Given the description of an element on the screen output the (x, y) to click on. 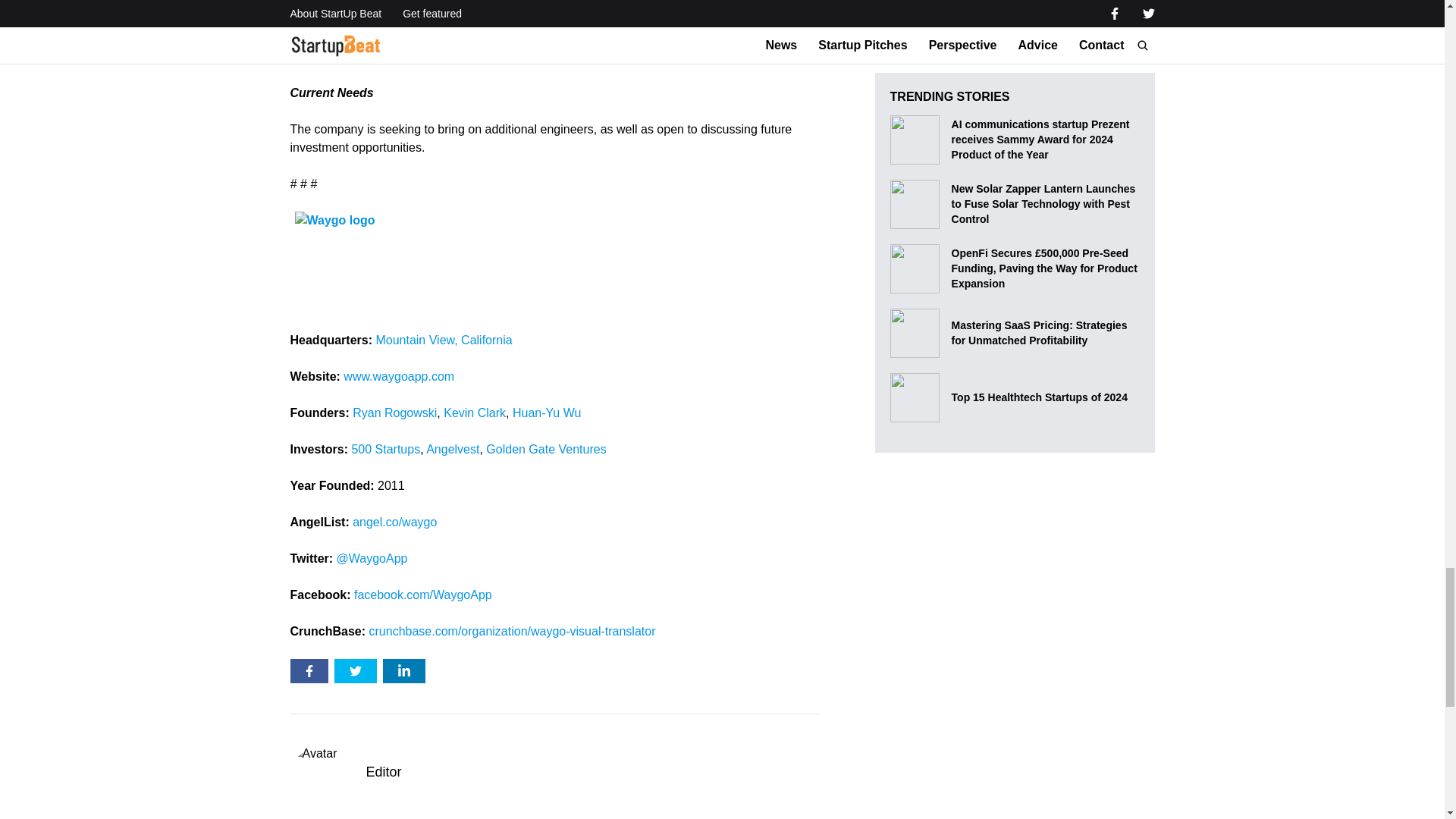
Mountain View, California (443, 339)
Restaurant Disaster - Waygo Translator (478, 33)
Huan-Yu Wu (546, 412)
Golden Gate Ventures (545, 449)
Angelvest (452, 449)
Kevin Clark (474, 412)
500 Startups (385, 449)
www.waygoapp.com (398, 376)
Ryan Rogowski (394, 412)
